Given the description of an element on the screen output the (x, y) to click on. 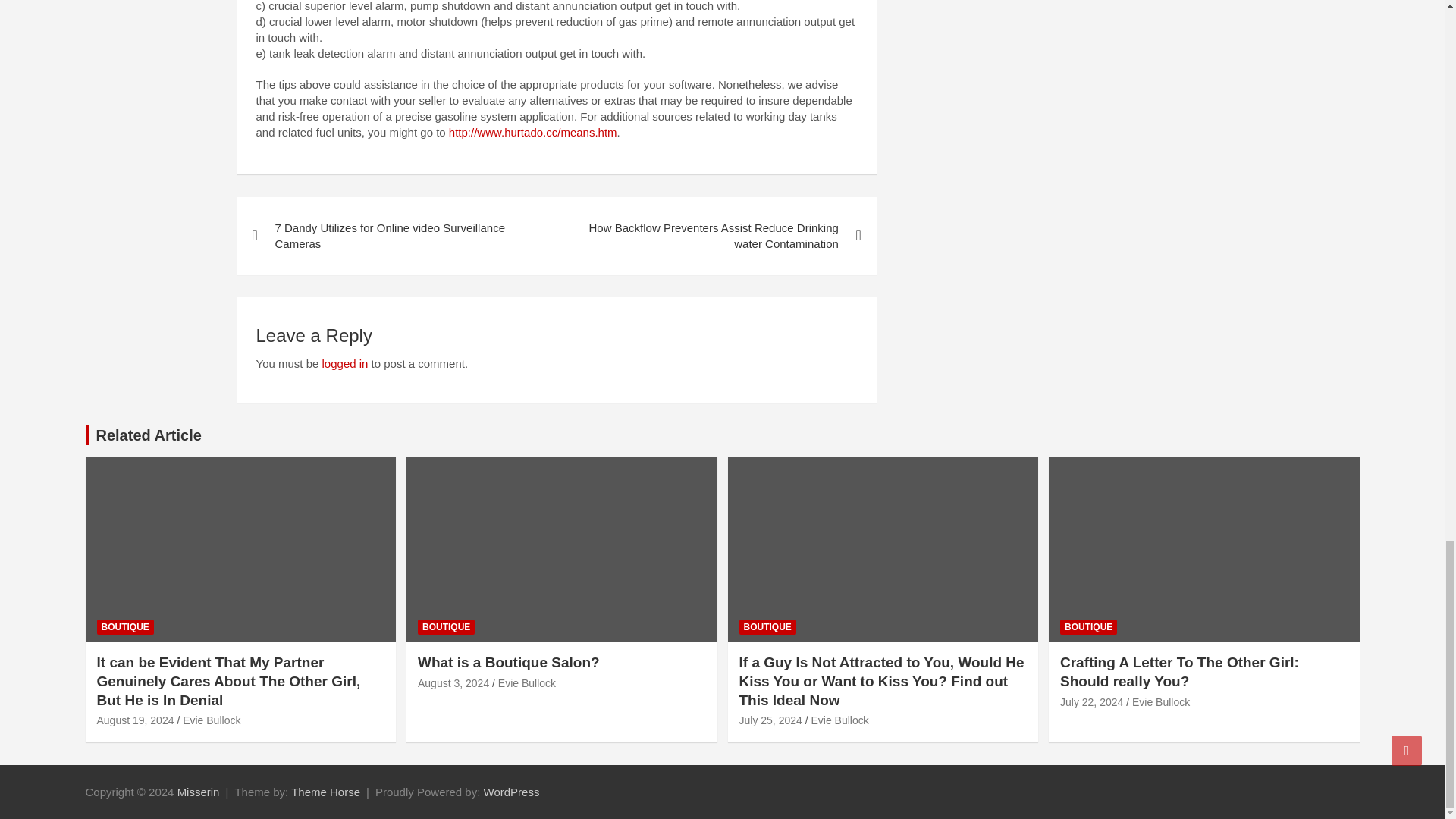
7 Dandy Utilizes for Online video Surveillance Cameras (395, 235)
Theme Horse (325, 791)
WordPress (511, 791)
What is a Boutique Salon? (453, 683)
Crafting A Letter To The Other Girl: Should really You? (1090, 702)
Related Article (148, 434)
Misserin (198, 791)
logged in (344, 363)
